Given the description of an element on the screen output the (x, y) to click on. 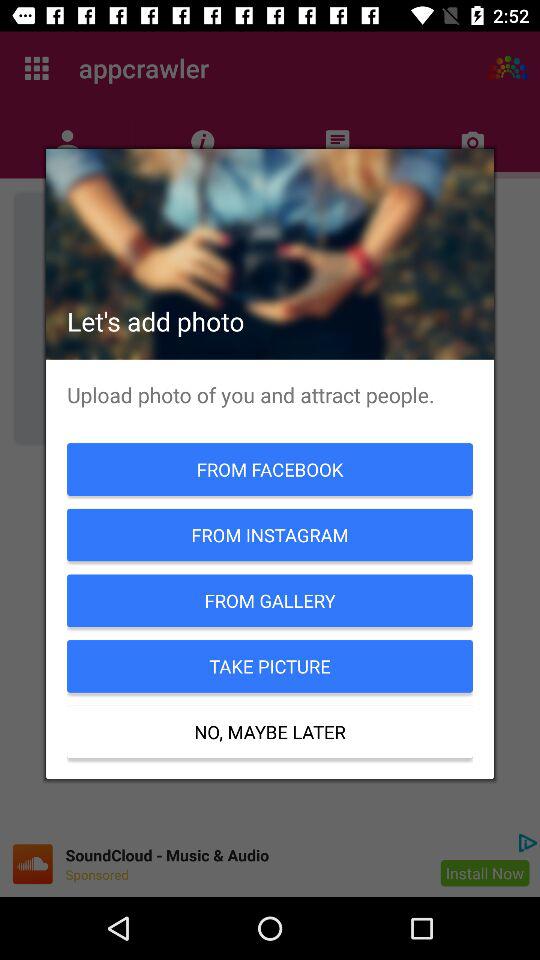
select take picture item (269, 666)
